Given the description of an element on the screen output the (x, y) to click on. 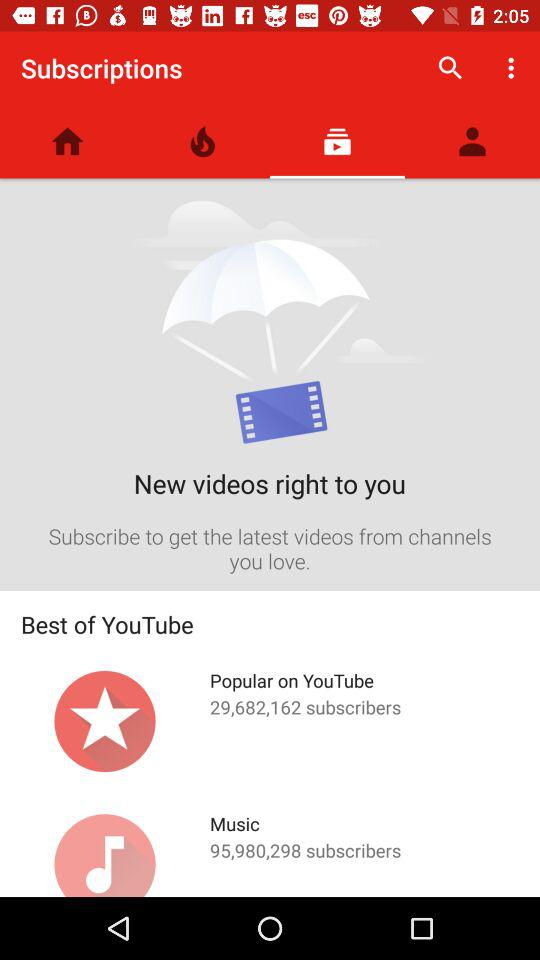
select the hot option which is after home option (202, 141)
